Given the description of an element on the screen output the (x, y) to click on. 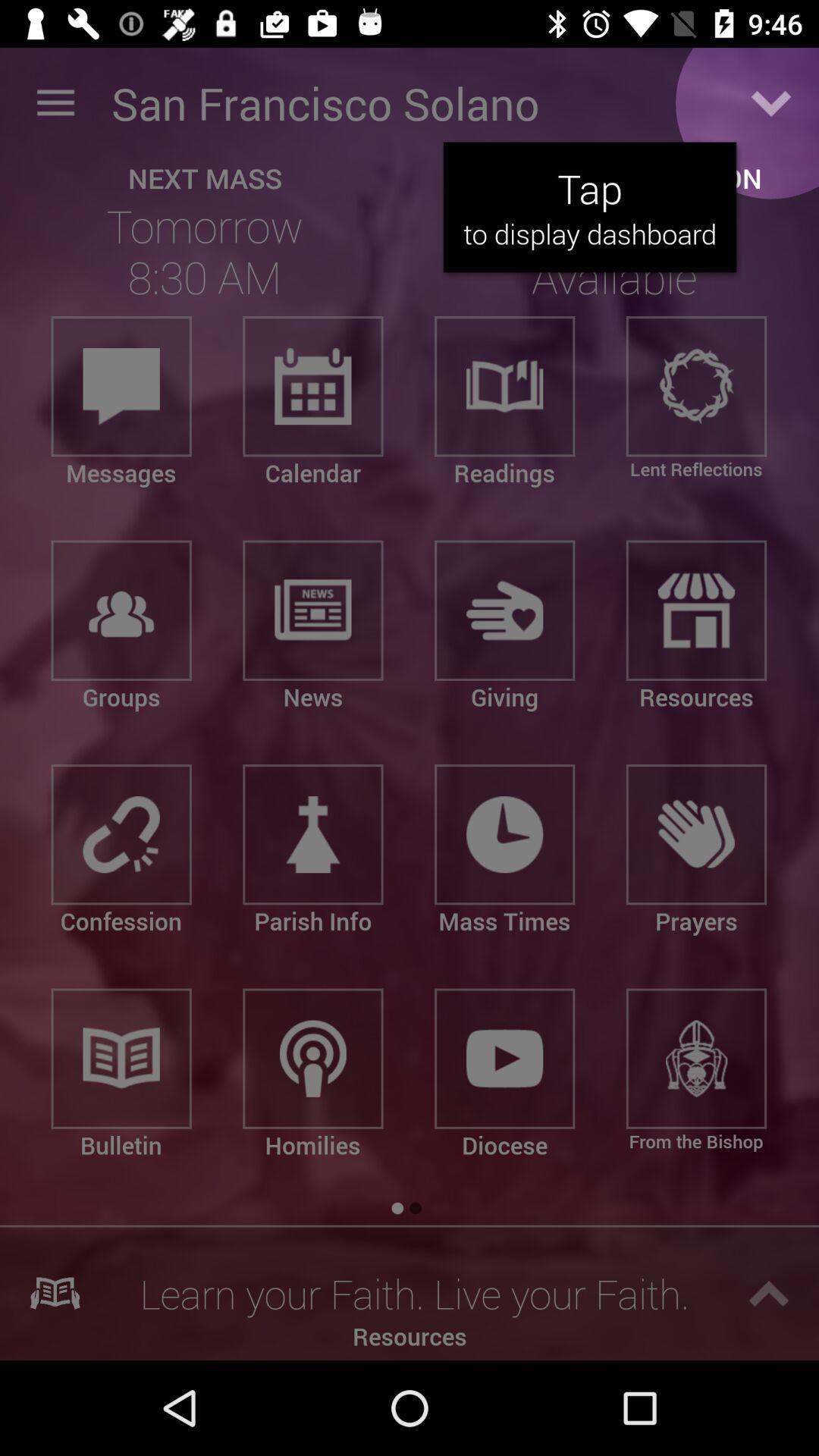
click the icon next to san francisco solano icon (771, 103)
